Given the description of an element on the screen output the (x, y) to click on. 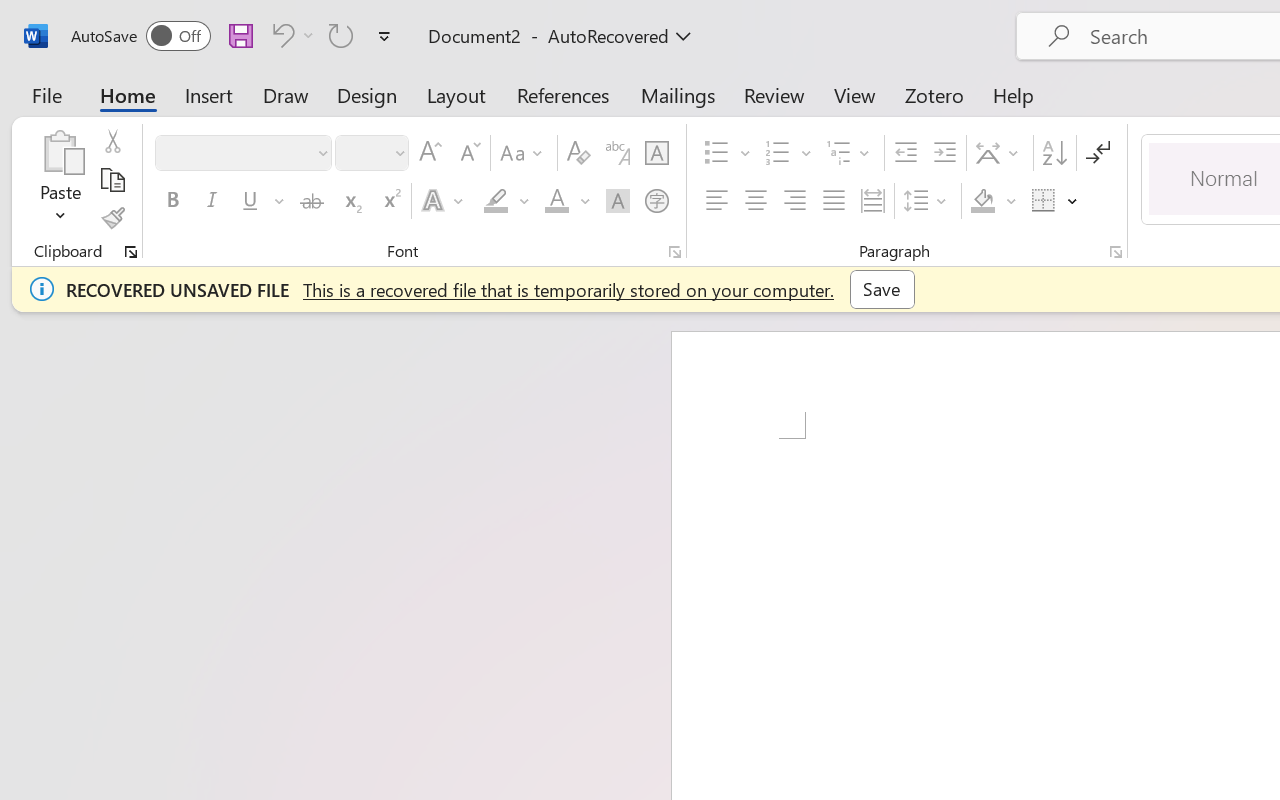
Subscript (350, 201)
Strikethrough (312, 201)
Asian Layout (1000, 153)
Shading (993, 201)
Open (399, 152)
Shading RGB(0, 0, 0) (982, 201)
Font Color (567, 201)
Text Highlight Color (506, 201)
Phonetic Guide... (618, 153)
